Given the description of an element on the screen output the (x, y) to click on. 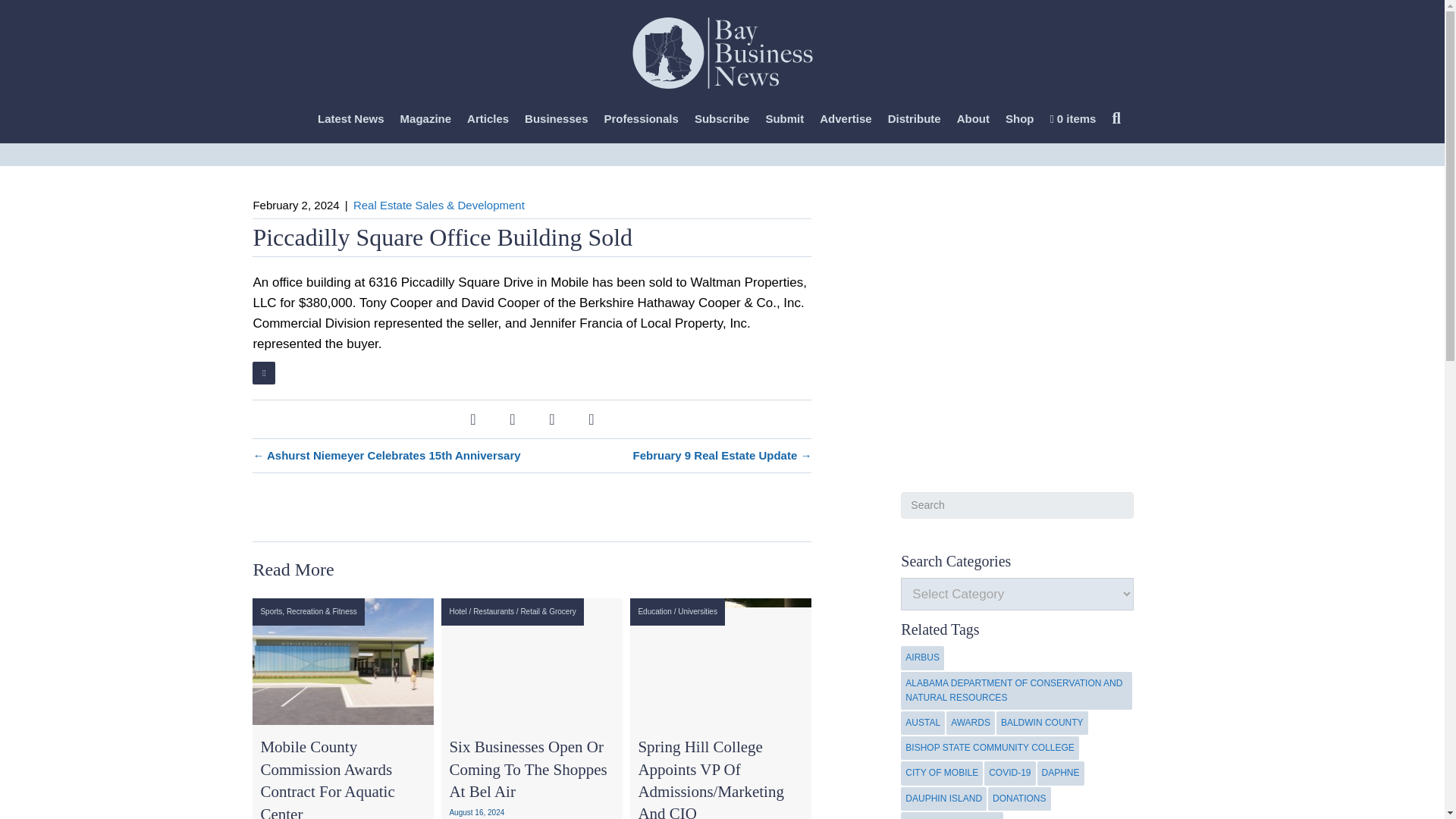
About (973, 118)
Magazine (426, 118)
Businesses (555, 118)
MOBILE COUNTY COMMISSION AWARDS CONTRACT FOR AQUATIC CENTER (342, 661)
Search (1118, 118)
Latest News (350, 118)
Professionals (640, 118)
Subscribe (722, 118)
Shop (1019, 118)
Distribute (914, 118)
